Given the description of an element on the screen output the (x, y) to click on. 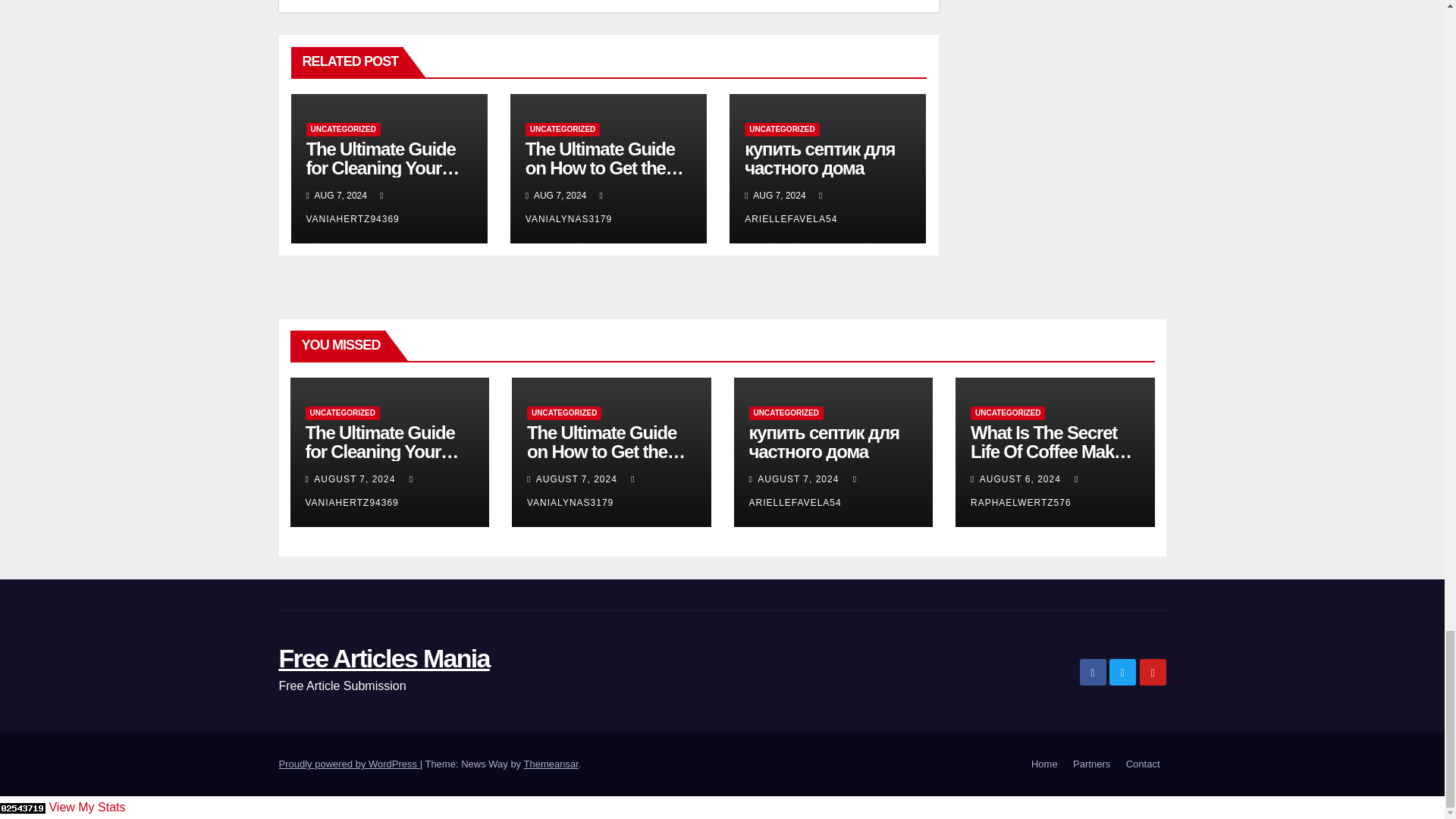
VANIALYNAS3179 (568, 207)
UNCATEGORIZED (342, 129)
UNCATEGORIZED (562, 129)
